Given the description of an element on the screen output the (x, y) to click on. 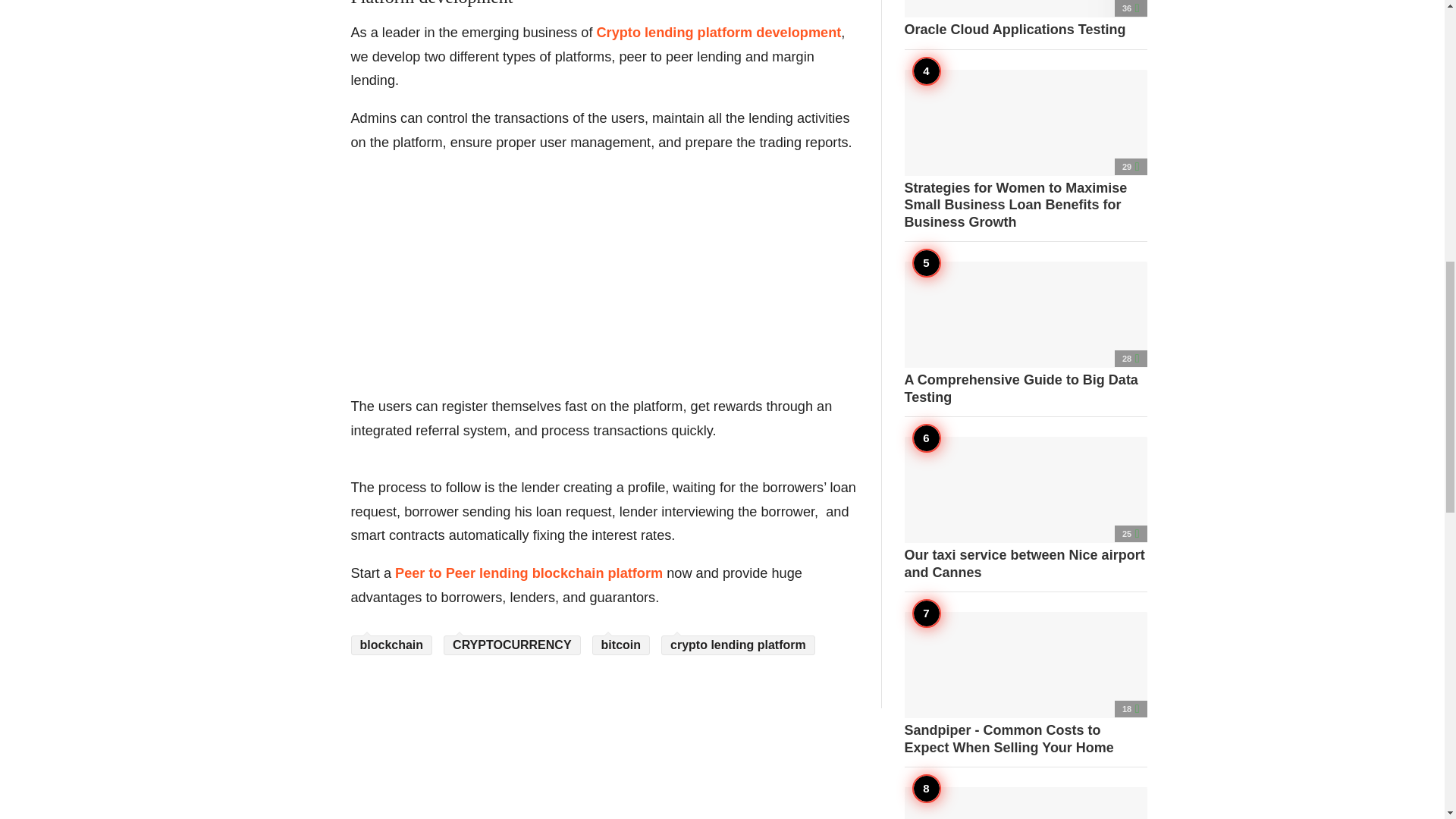
Our taxi service between Nice airport and Cannes (1025, 508)
A Comprehensive Guide to Big Data Testing (1025, 333)
Sandpiper - Common Costs to Expect When Selling Your Home (1025, 683)
Oracle Cloud Applications Testing (1025, 19)
